Given the description of an element on the screen output the (x, y) to click on. 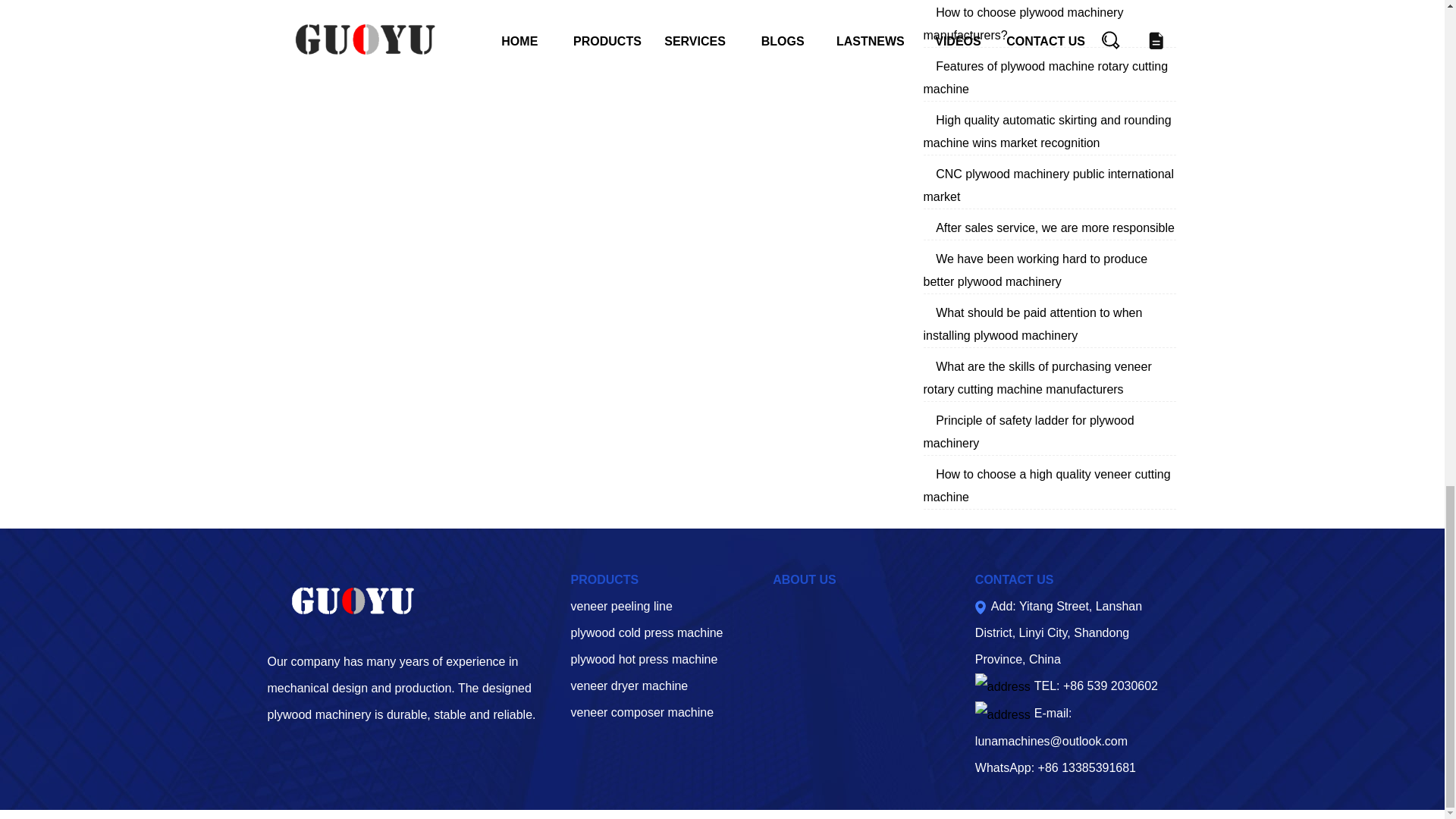
How to choose a high quality veneer cutting machine (1046, 485)
Principle of safety ladder for plywood machinery (1028, 431)
veneer composer machine (641, 712)
veneer dryer machine (628, 685)
After sales service, we are more responsible (1055, 227)
Features of plywood machine rotary cutting machine (1046, 77)
plywood cold press machine (646, 632)
How to choose plywood machinery manufacturers? (1023, 23)
